Given the description of an element on the screen output the (x, y) to click on. 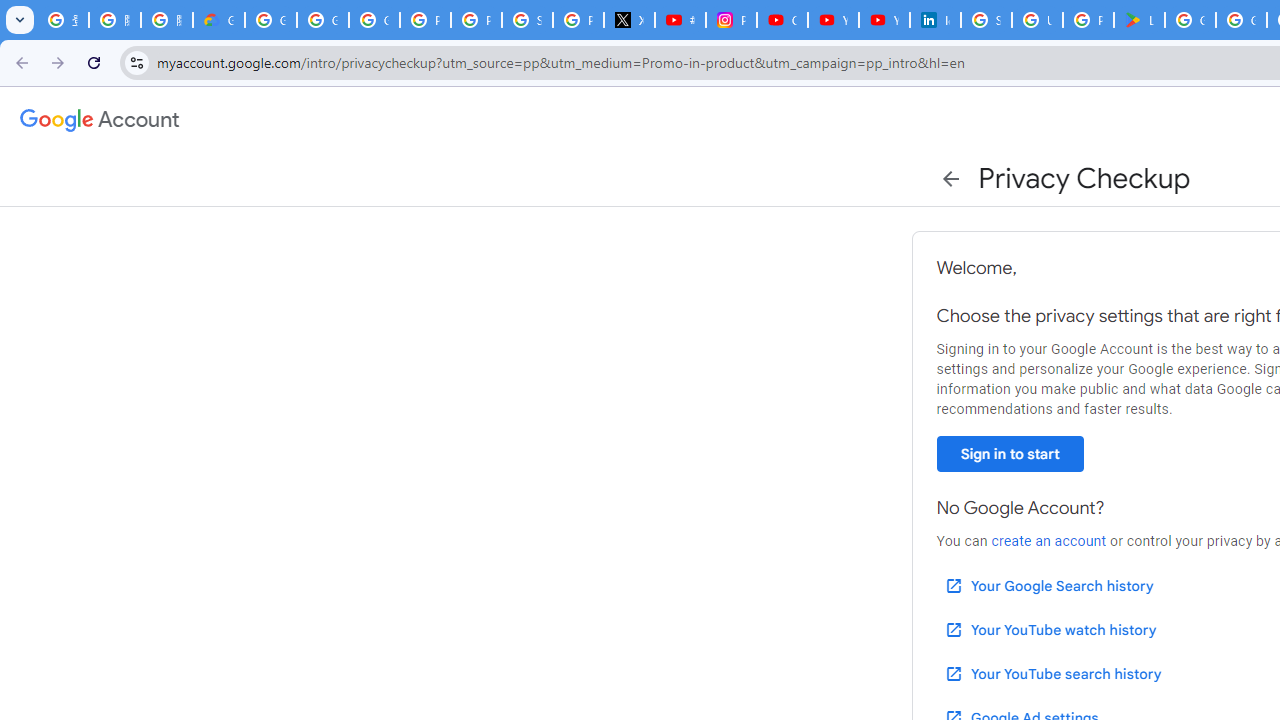
Sign in to start (1009, 454)
Your Google Search history (1048, 586)
